Given the description of an element on the screen output the (x, y) to click on. 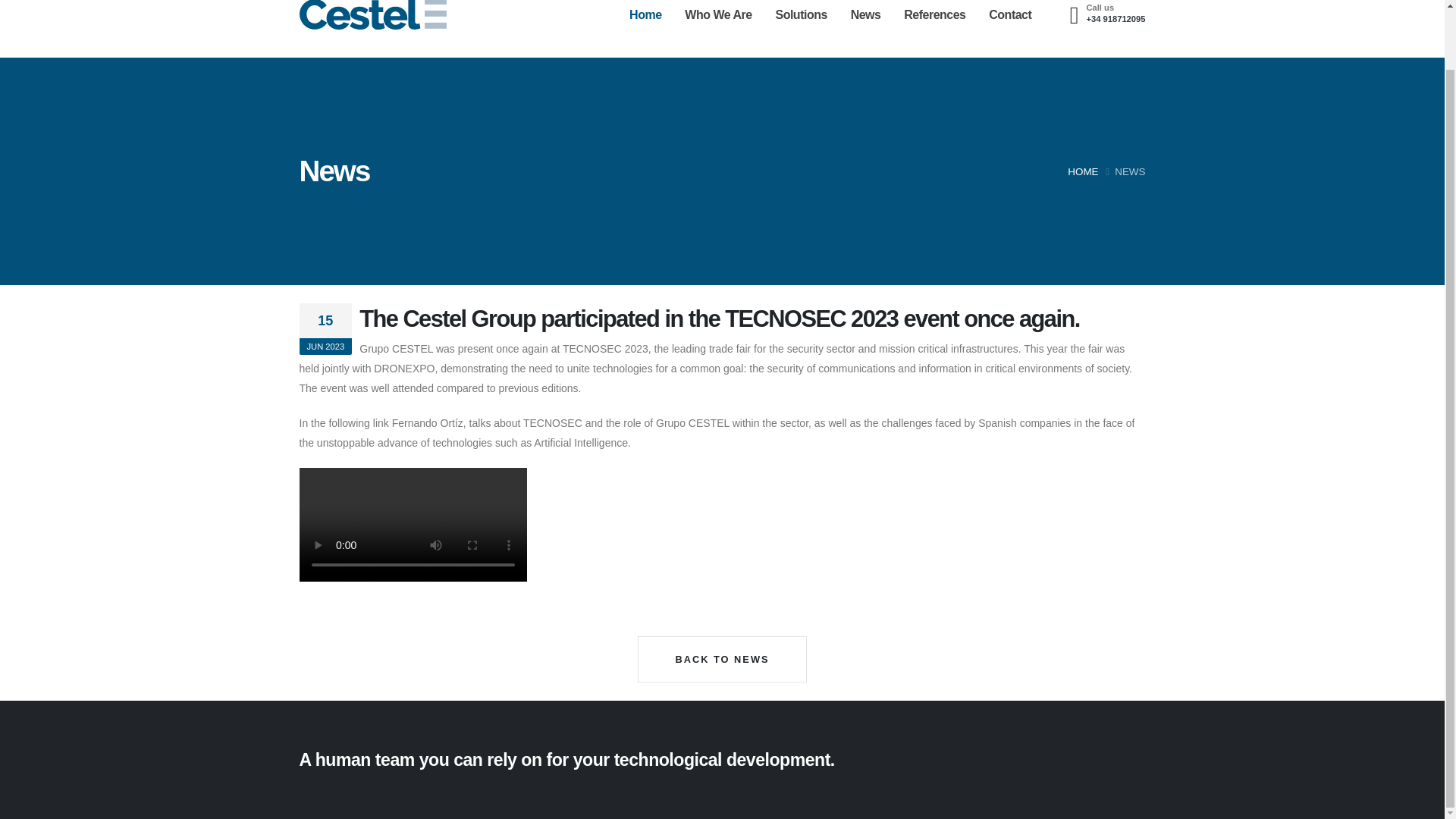
Contact (1010, 29)
GRUPO CESTEL (373, 562)
Solutions (537, 582)
References (934, 29)
Who We Are (718, 29)
Linkedin (1131, 704)
Home (645, 29)
HOME (1082, 171)
ENG (1073, 704)
Privacy policy (762, 553)
News (865, 29)
News (633, 526)
References (646, 553)
Porto Finance (373, 499)
Contact (638, 582)
